Given the description of an element on the screen output the (x, y) to click on. 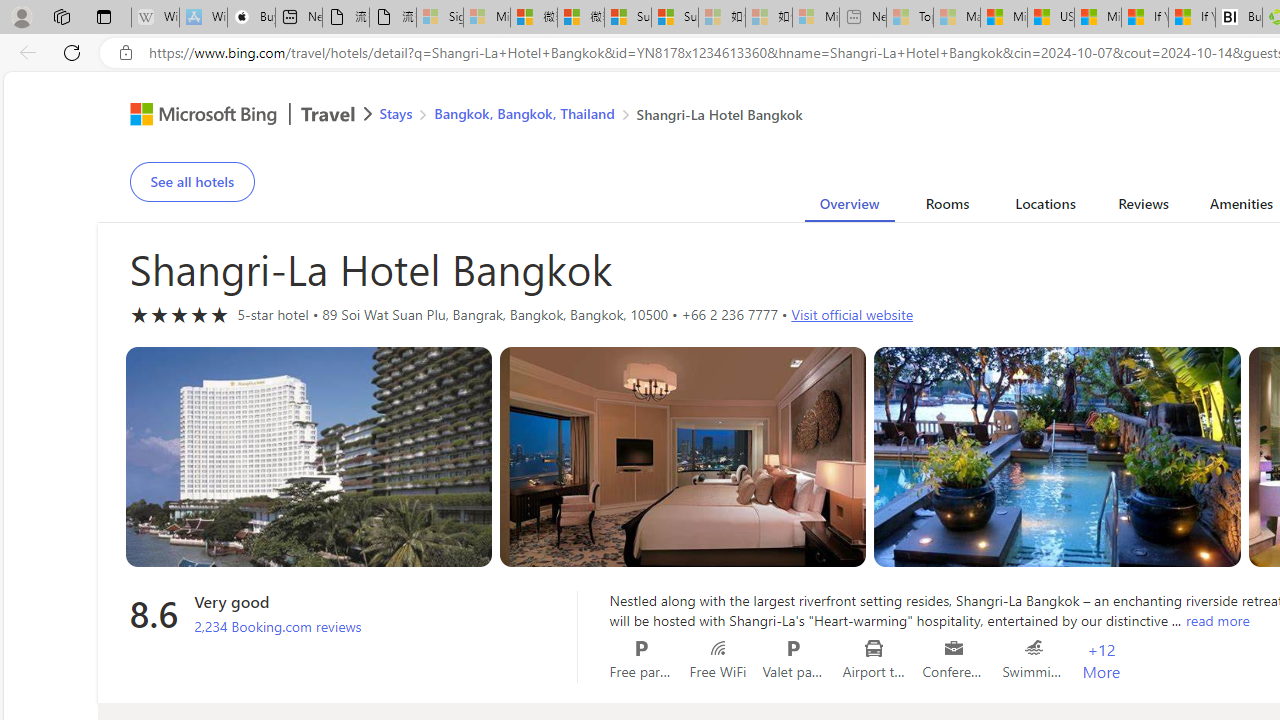
Overview (848, 207)
Class: msft-travel-logo (328, 114)
Locations (1044, 207)
Microsoft Services Agreement - Sleeping (486, 17)
Microsoft Bing Travel (229, 116)
Top Stories - MSN - Sleeping (910, 17)
Class: msft-bing-logo msft-bing-logo-desktop (198, 114)
read more (1217, 620)
Sign in to your Microsoft account - Sleeping (440, 17)
Stays (395, 112)
Rooms (947, 207)
